Given the description of an element on the screen output the (x, y) to click on. 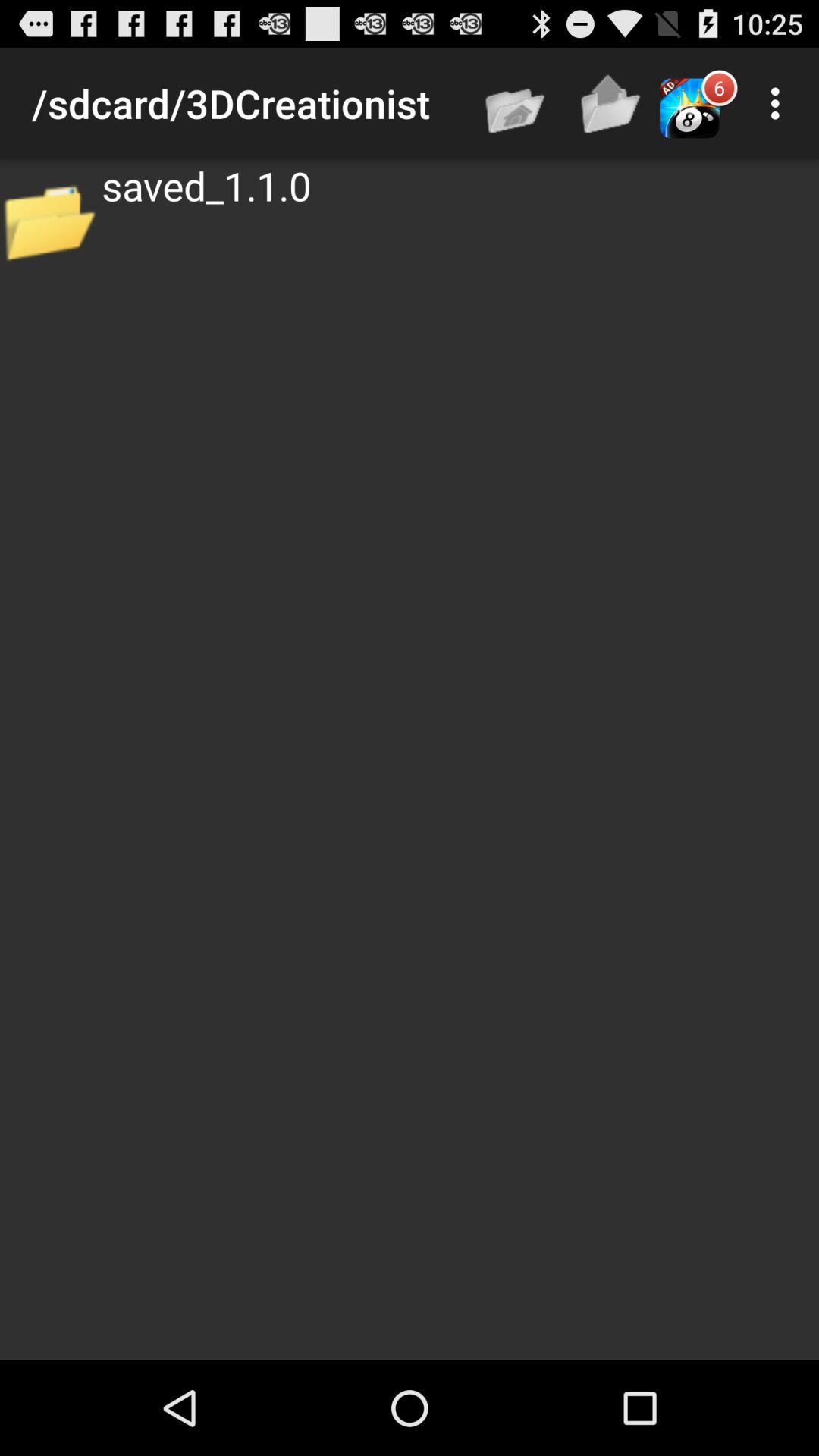
tap item to the right of 6 icon (779, 103)
